Given the description of an element on the screen output the (x, y) to click on. 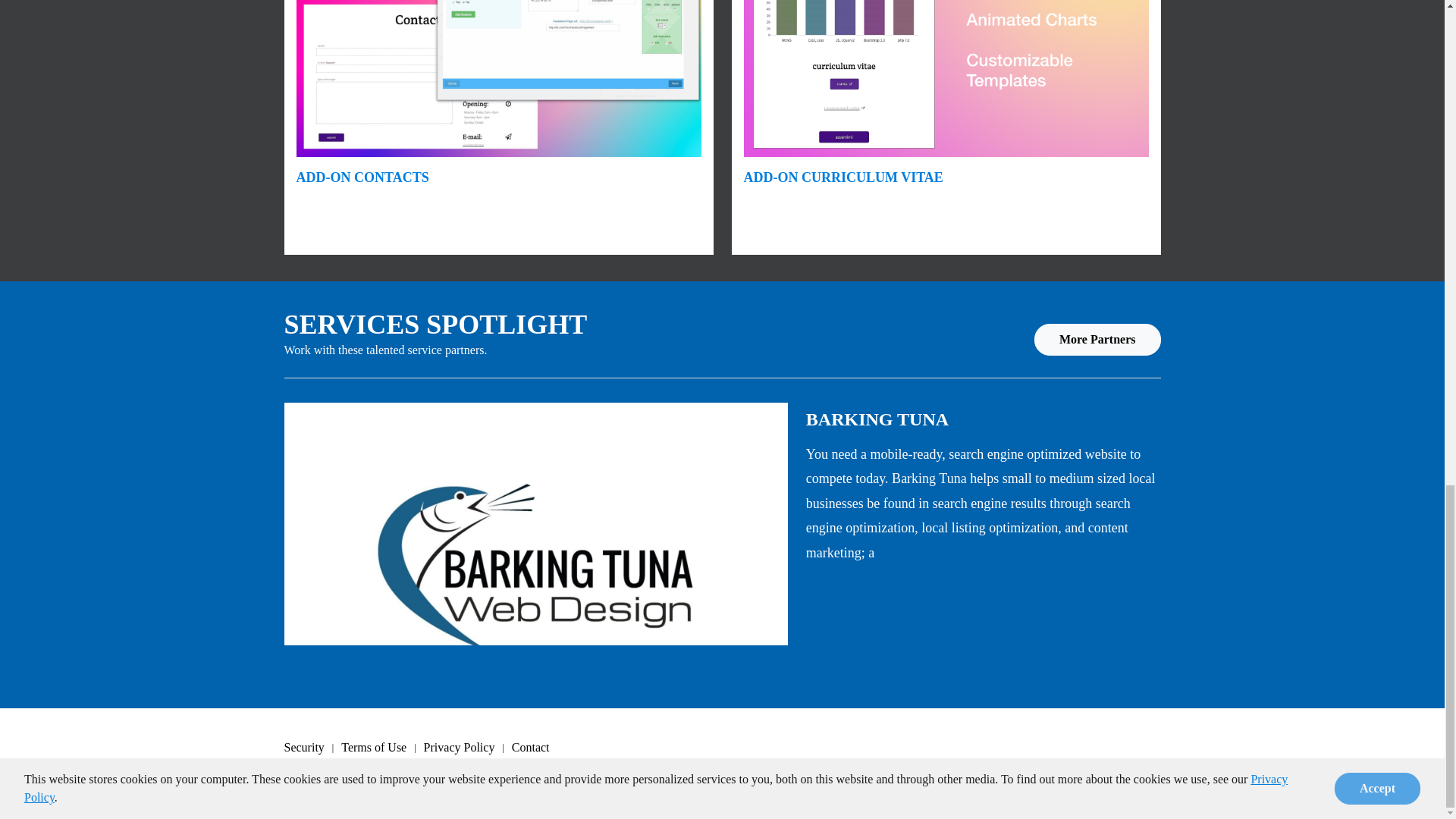
ADD-ON CONTACTS (361, 177)
BARKING TUNA (877, 419)
Terms of Use (381, 747)
Privacy Policy (467, 747)
Security (311, 747)
ADD-ON CURRICULUM VITAE (842, 177)
More Partners (1096, 339)
Contact (538, 747)
